Given the description of an element on the screen output the (x, y) to click on. 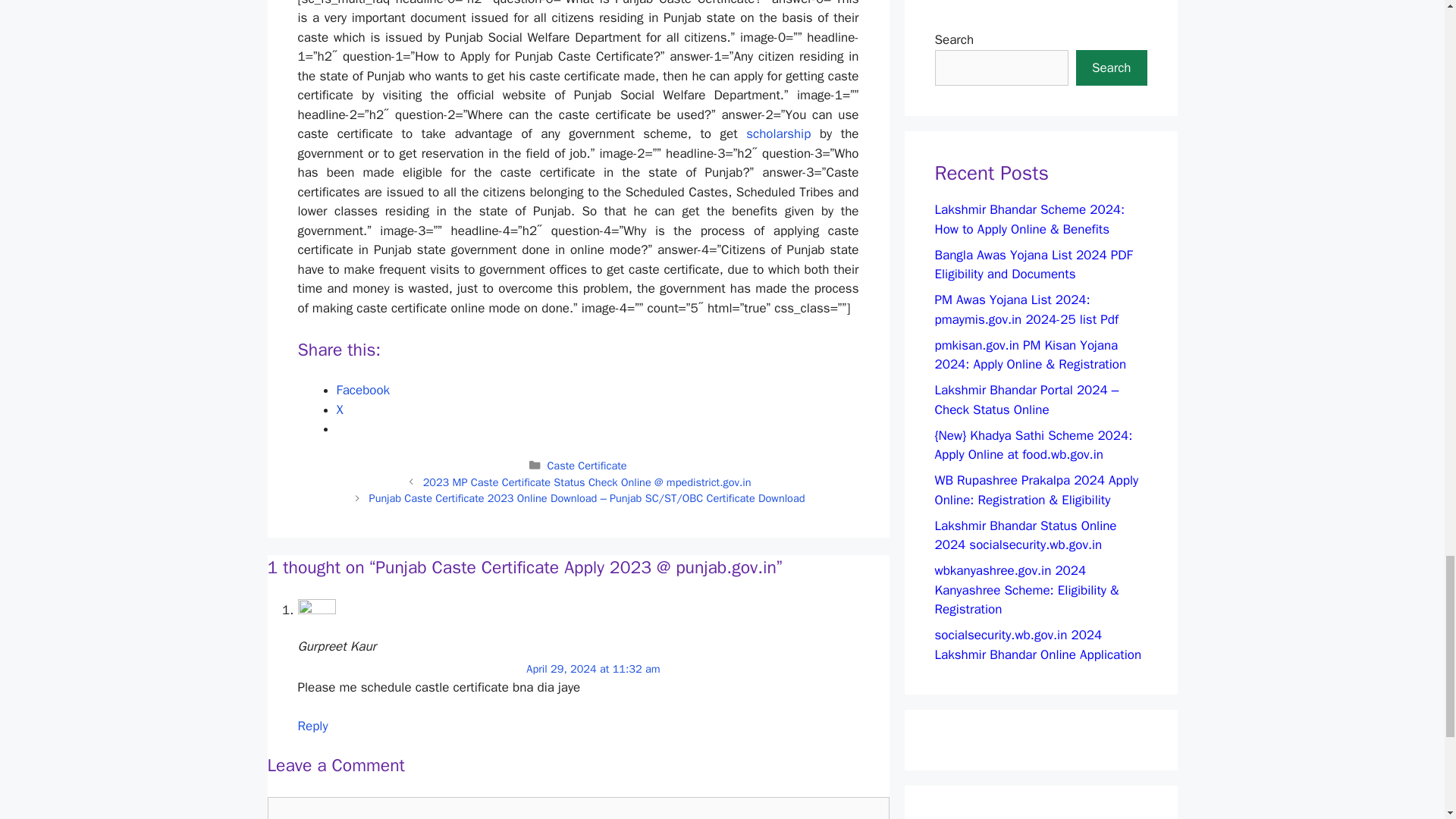
scholarship (777, 133)
Facebook (363, 390)
X (339, 409)
Caste Certificate (586, 465)
